Given the description of an element on the screen output the (x, y) to click on. 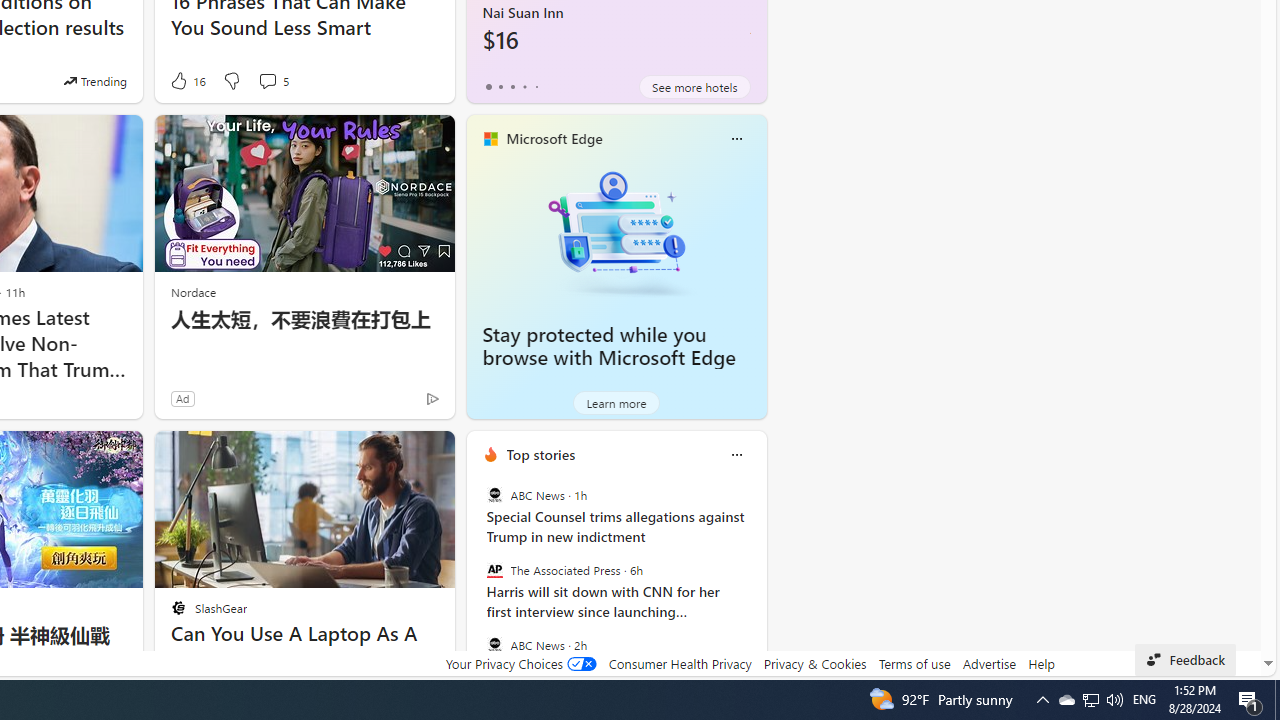
Stay protected while you browse with Microsoft Edge (609, 346)
tab-3 (524, 86)
Privacy & Cookies (814, 663)
previous (476, 583)
This story is trending (95, 80)
